Given the description of an element on the screen output the (x, y) to click on. 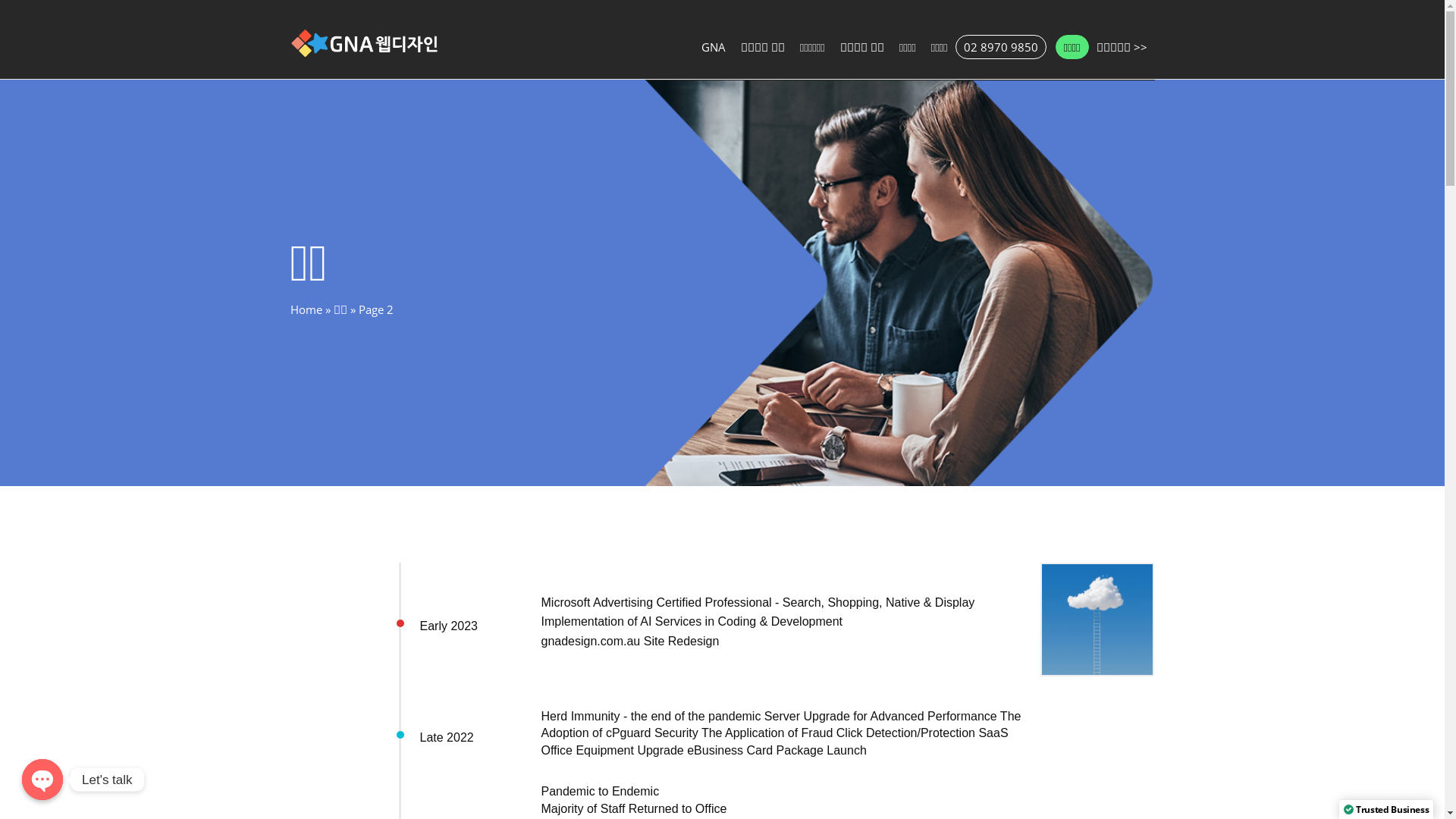
Home Element type: text (305, 308)
Early 2023 Element type: hover (1097, 621)
02 8970 9850 Element type: text (1000, 46)
Home Element type: text (365, 45)
GNA Element type: text (713, 46)
Early 2023 Element type: text (449, 625)
Late 2022 Element type: text (446, 737)
